Given the description of an element on the screen output the (x, y) to click on. 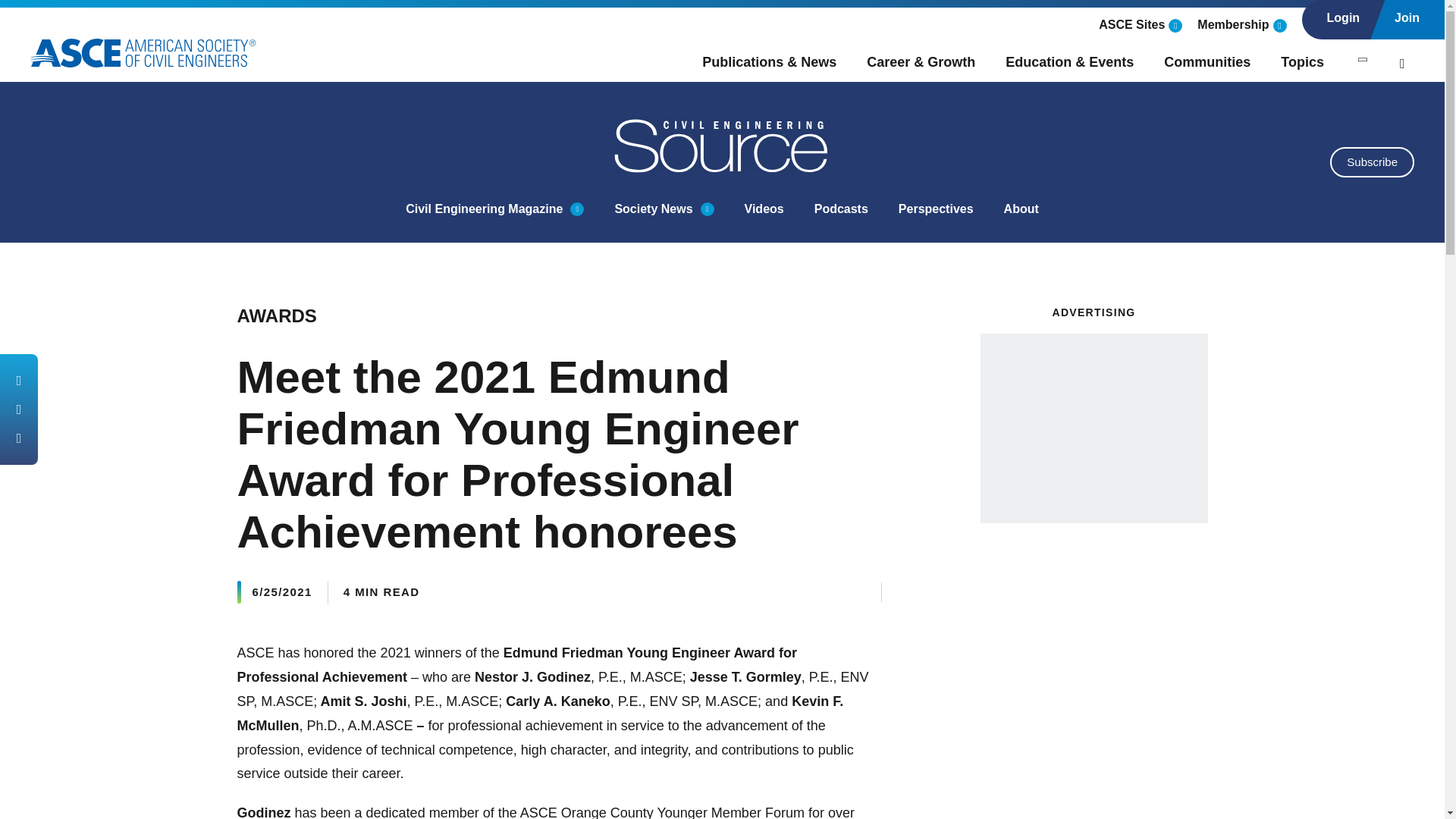
Podcasts (840, 209)
Civil Engineering Source (722, 143)
Videos (764, 209)
Civil Engineering Magazine (484, 209)
Subscribe to ASCE's Civil Engineering Source (1371, 162)
